Given the description of an element on the screen output the (x, y) to click on. 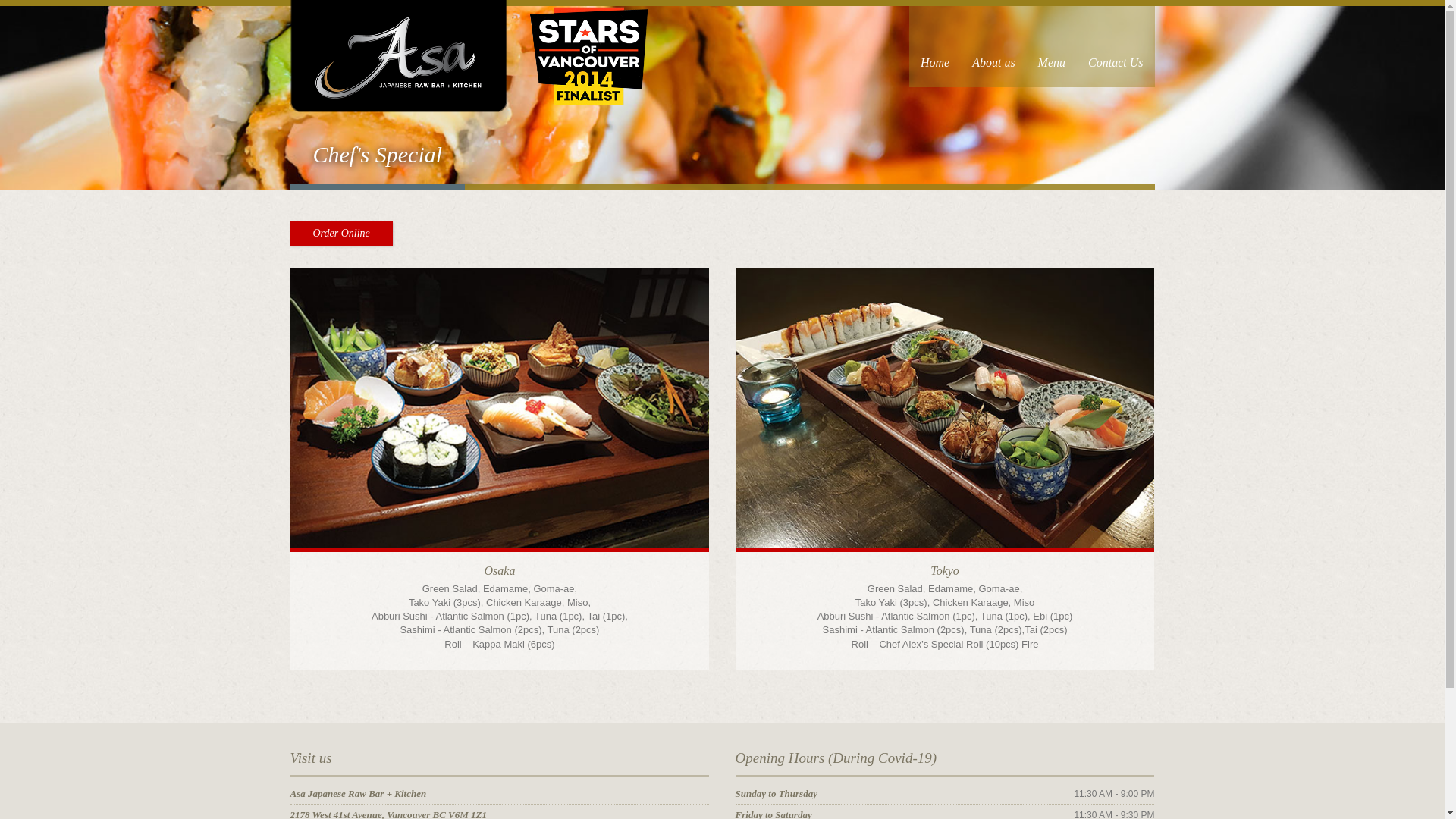
Contact Us Element type: text (1115, 43)
Menu Element type: text (1051, 43)
Home Element type: text (934, 43)
About us Element type: text (993, 43)
Order Online Element type: text (340, 233)
